Given the description of an element on the screen output the (x, y) to click on. 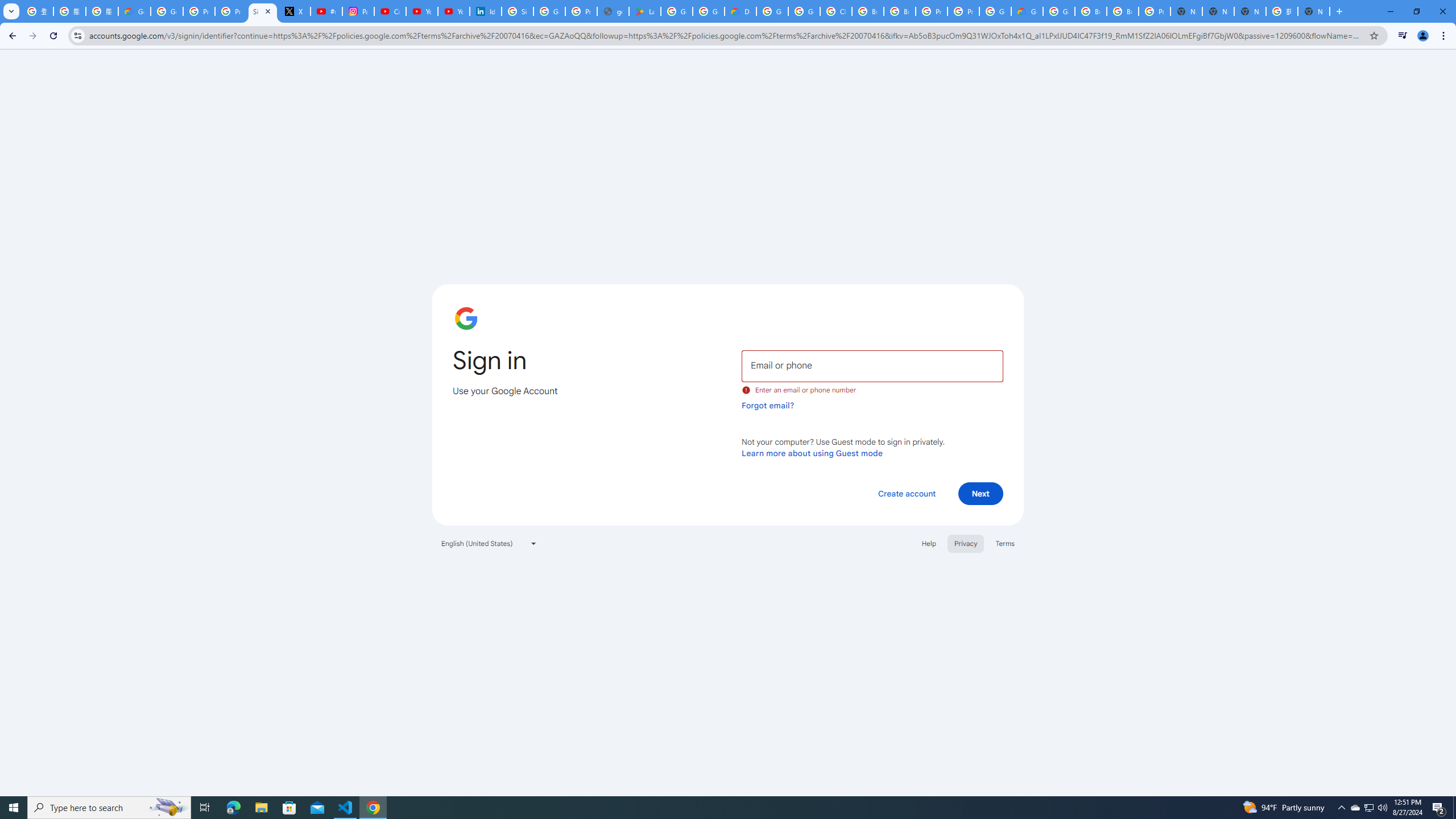
Privacy Help Center - Policies Help (230, 11)
Create account (905, 493)
Identity verification via Persona | LinkedIn Help (485, 11)
Sign in - Google Accounts (262, 11)
Control your music, videos, and more (1402, 35)
Google Cloud Platform (1059, 11)
English (United States) (489, 542)
